Given the description of an element on the screen output the (x, y) to click on. 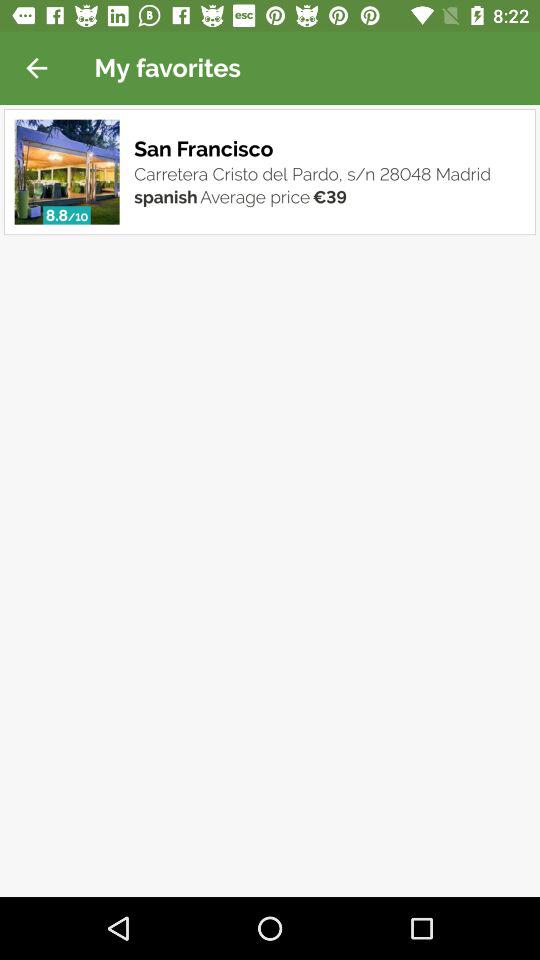
choose item to the right of the 8.8 icon (77, 217)
